Given the description of an element on the screen output the (x, y) to click on. 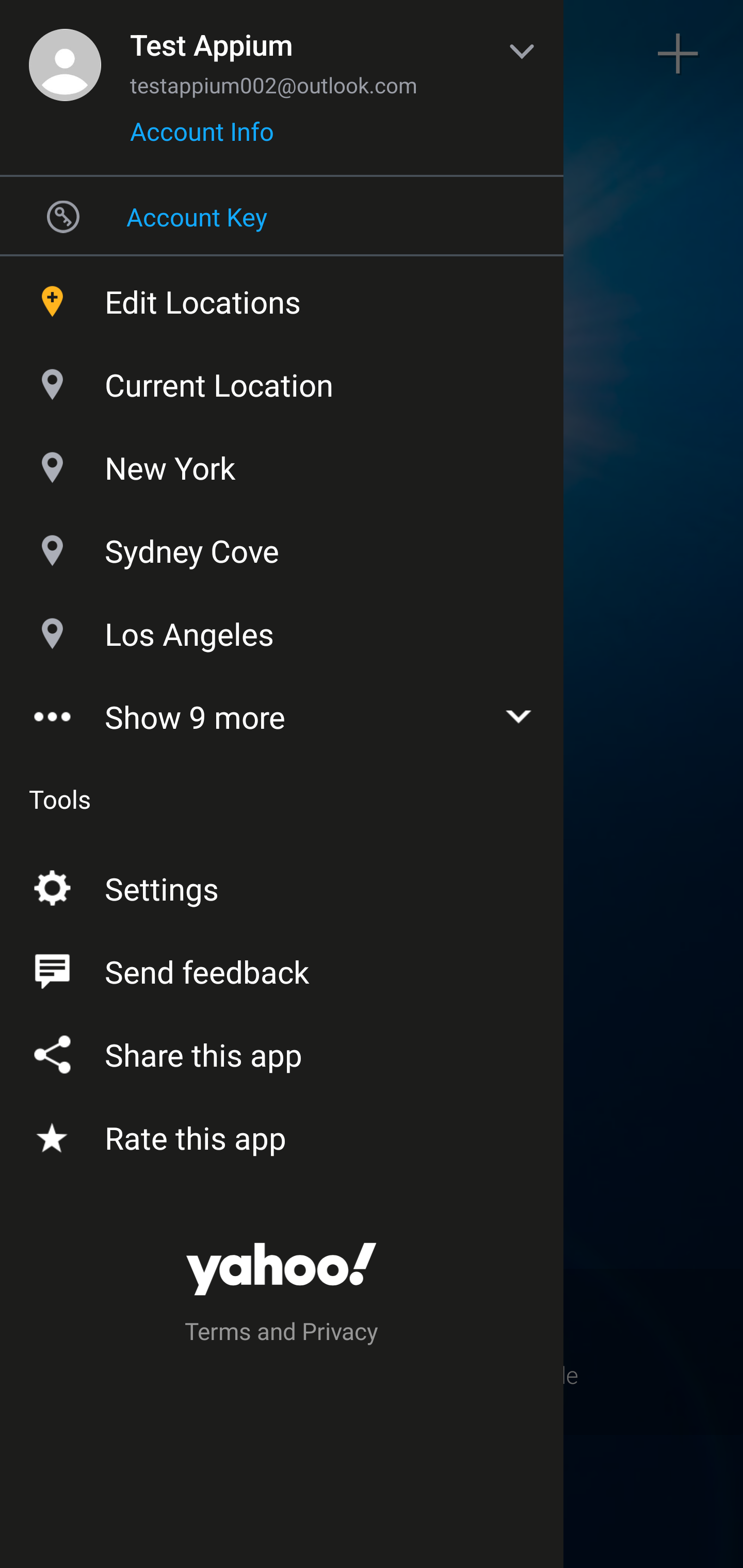
Sidebar (64, 54)
Account Info (202, 137)
Account Key (281, 216)
Edit Locations (281, 296)
Current Location (281, 379)
New York (281, 462)
Sydney Cove (281, 546)
Los Angeles (281, 629)
Settings (281, 884)
Send feedback (281, 967)
Share this app (281, 1050)
Terms and Privacy Terms and privacy button (281, 1334)
